Given the description of an element on the screen output the (x, y) to click on. 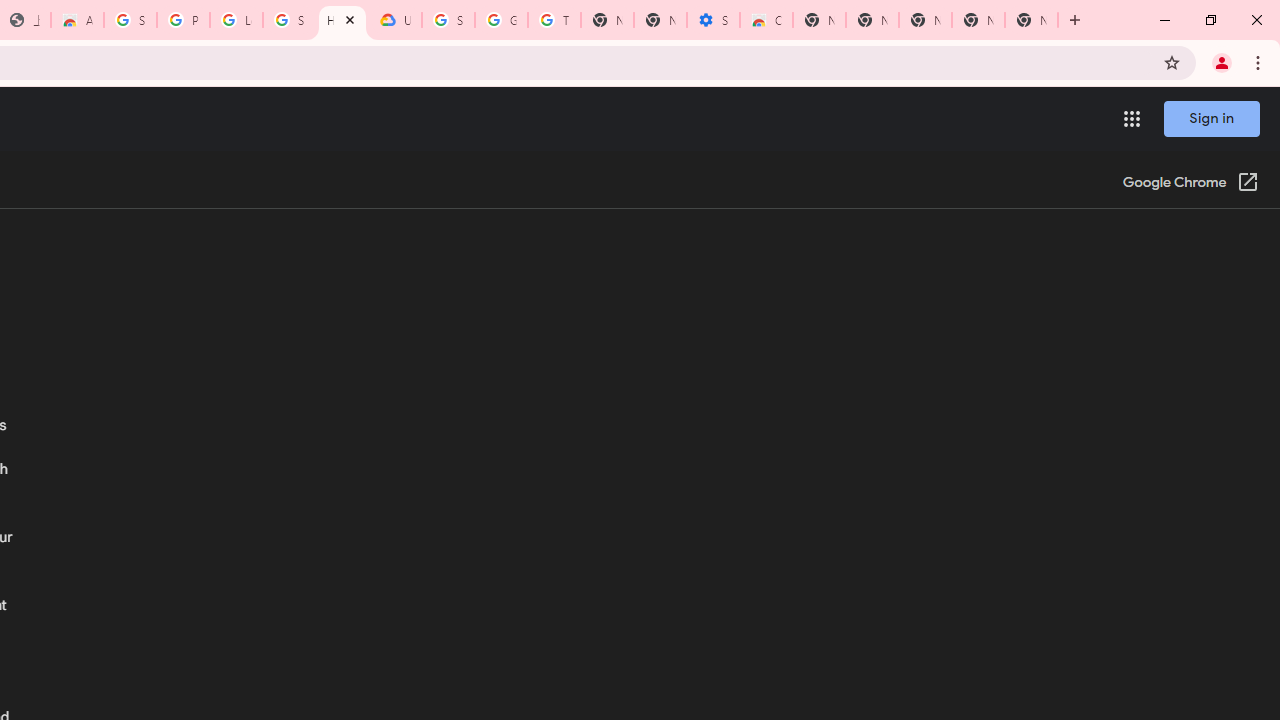
Settings - Accessibility (713, 20)
Turn cookies on or off - Computer - Google Account Help (554, 20)
Sign in - Google Accounts (130, 20)
